Given the description of an element on the screen output the (x, y) to click on. 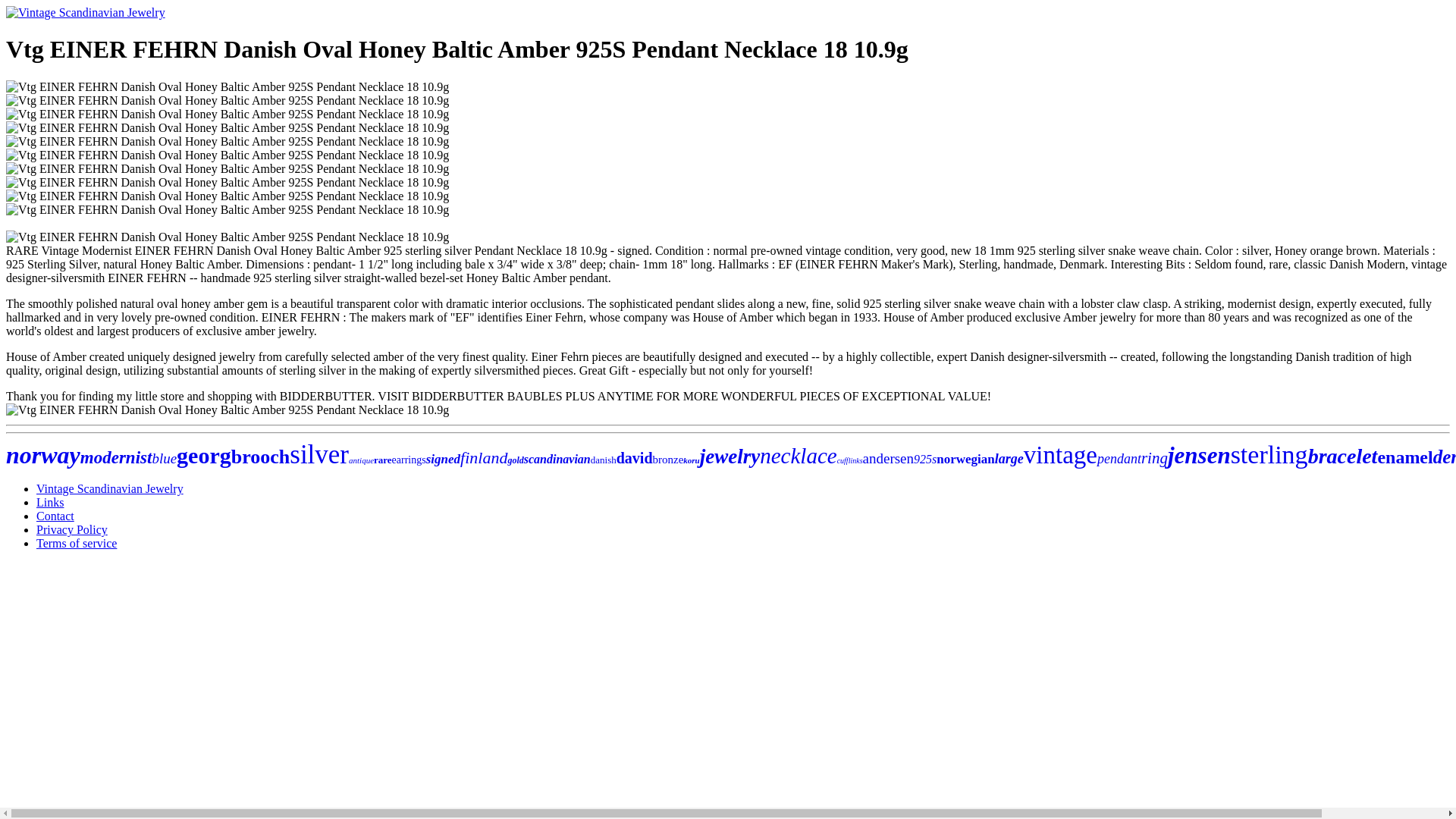
signed (443, 459)
jensen (1198, 455)
gold (514, 460)
georg (203, 455)
modernist (116, 456)
cufflinks (850, 460)
bronze (668, 459)
norway (42, 454)
danish (603, 460)
blue (163, 458)
